Given the description of an element on the screen output the (x, y) to click on. 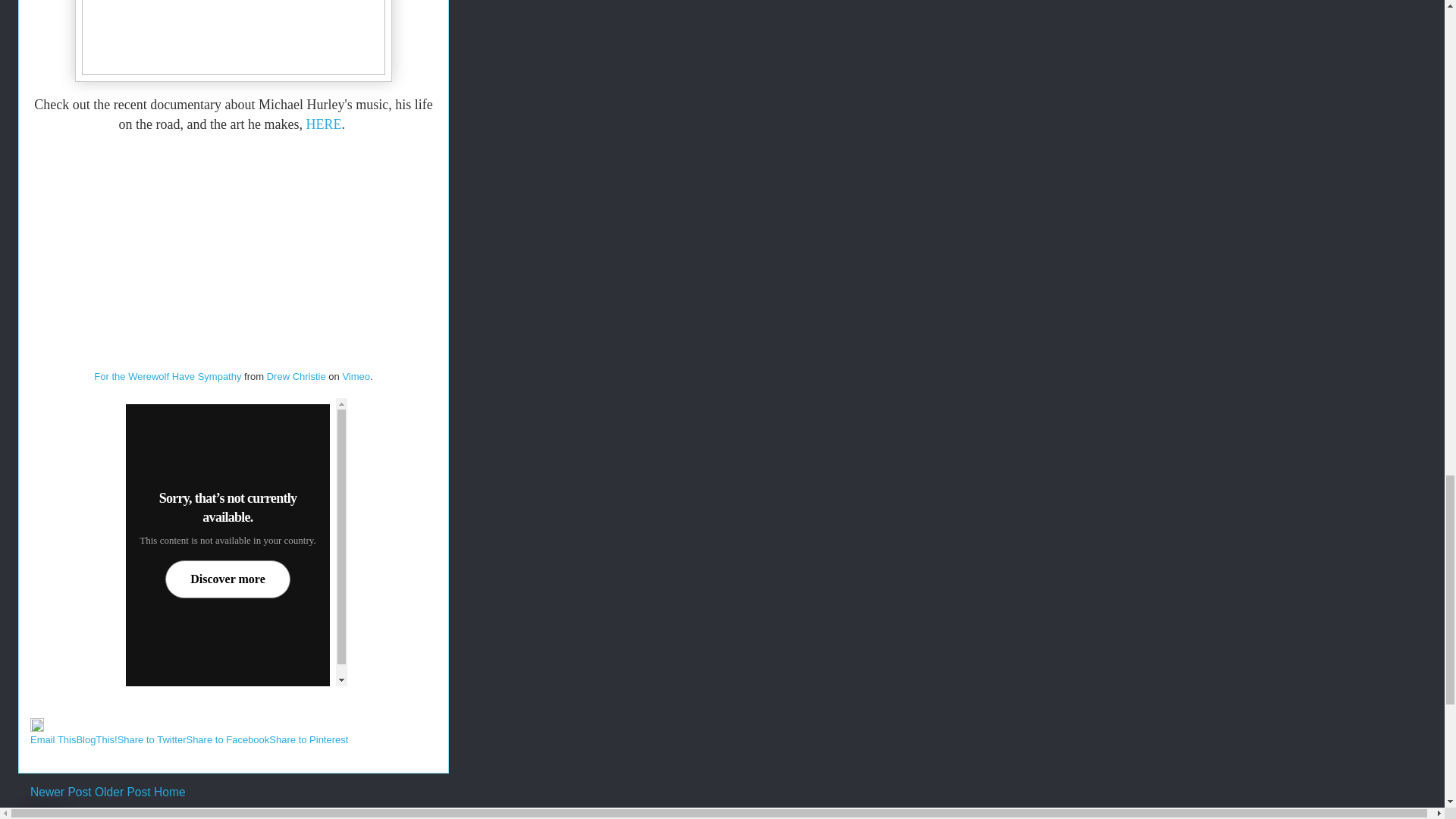
Share to Facebook (227, 739)
Newer Post (60, 791)
For the Werewolf Have Sympathy (167, 376)
Home (170, 791)
Share to Pinterest (308, 739)
Share to Pinterest (308, 739)
Vimeo (355, 376)
Drew Christie (296, 376)
Older Post (122, 791)
Older Post (122, 791)
